Given the description of an element on the screen output the (x, y) to click on. 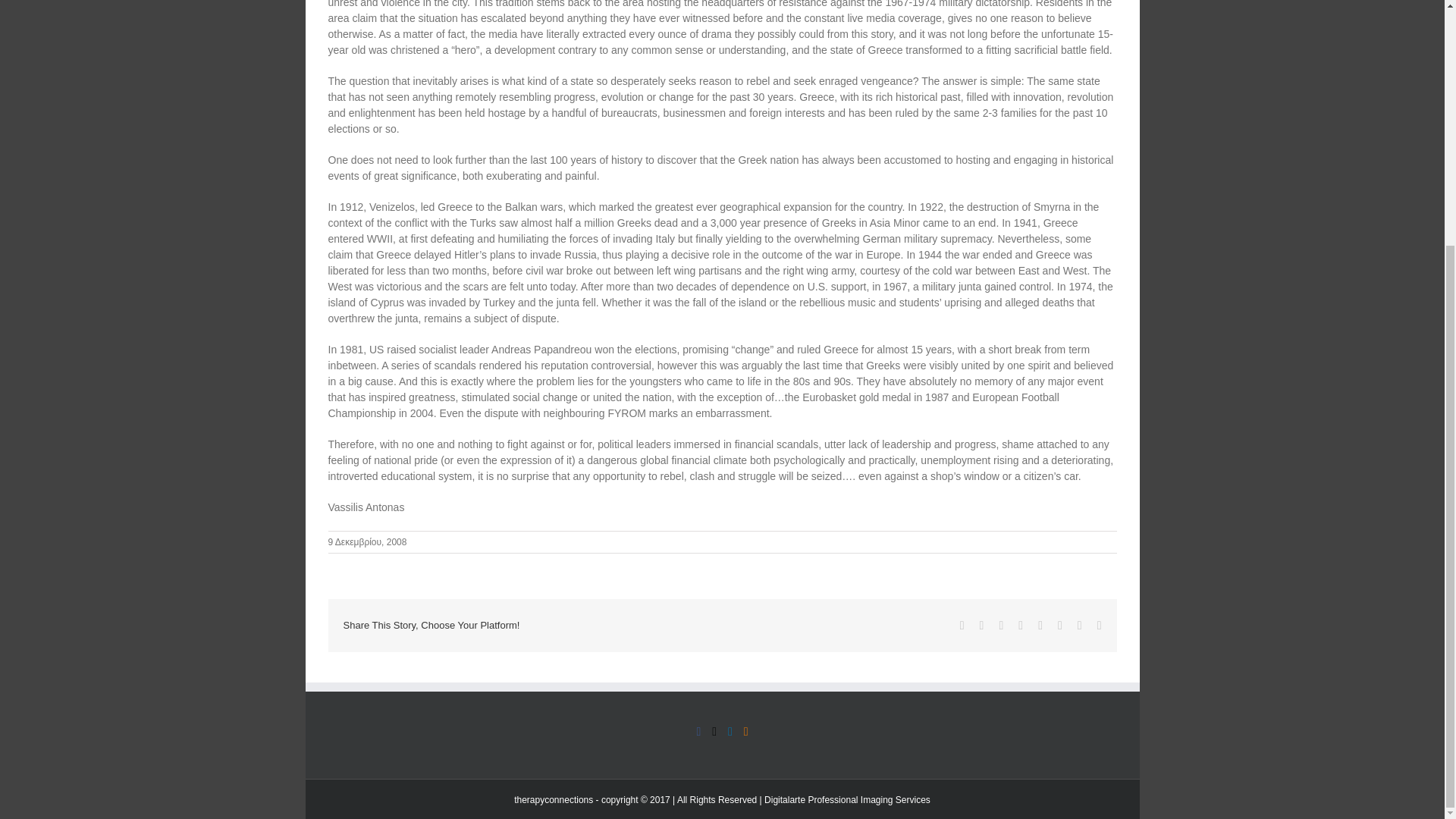
X (981, 625)
Facebook (961, 625)
Vk (1079, 625)
LinkedIn (1020, 625)
Digitalarte Professional Imaging Services (847, 799)
Email (1099, 625)
Pinterest (1060, 625)
Reddit (1000, 625)
Tumblr (1040, 625)
